Given the description of an element on the screen output the (x, y) to click on. 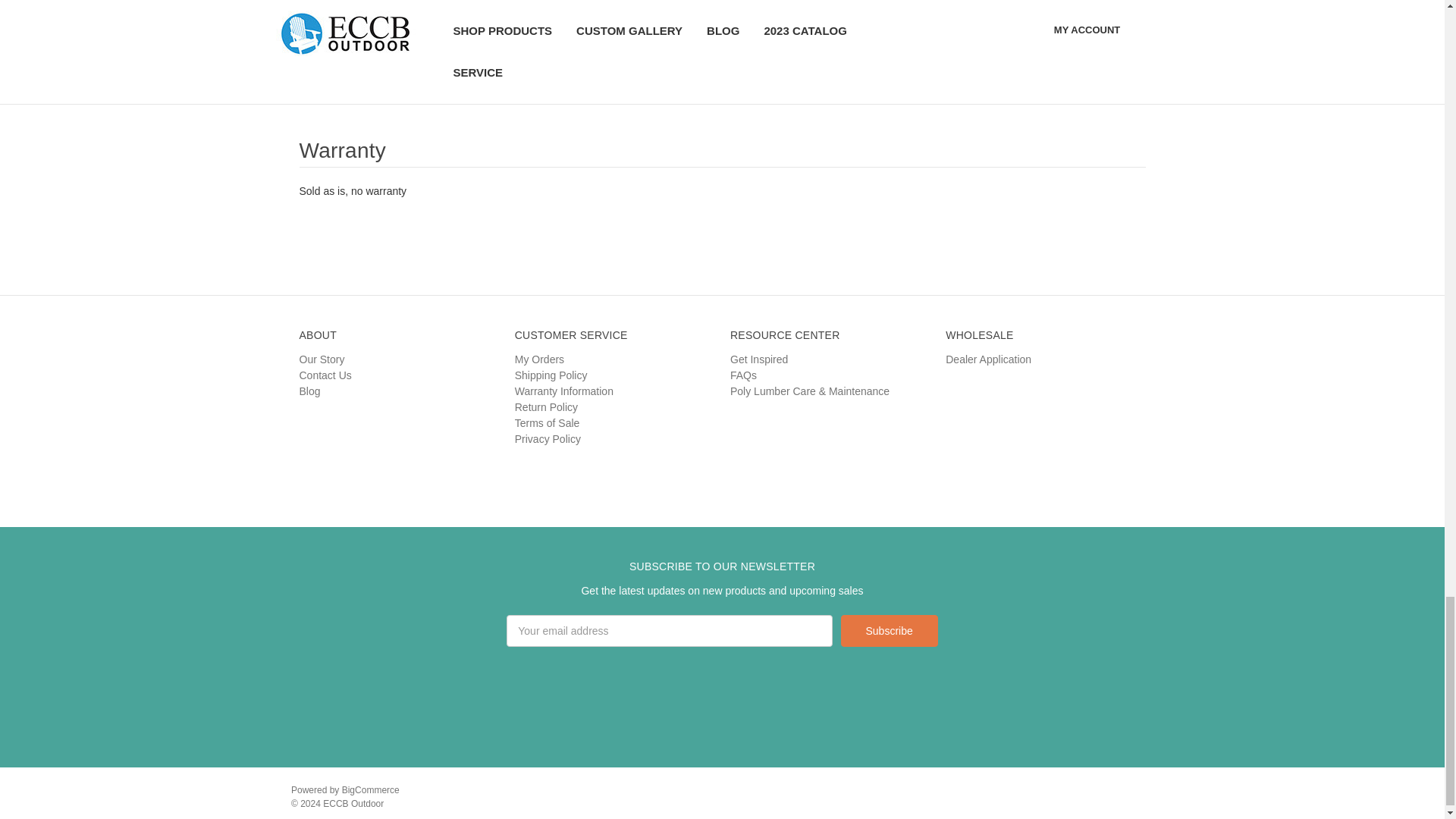
Subscribe (889, 631)
